Given the description of an element on the screen output the (x, y) to click on. 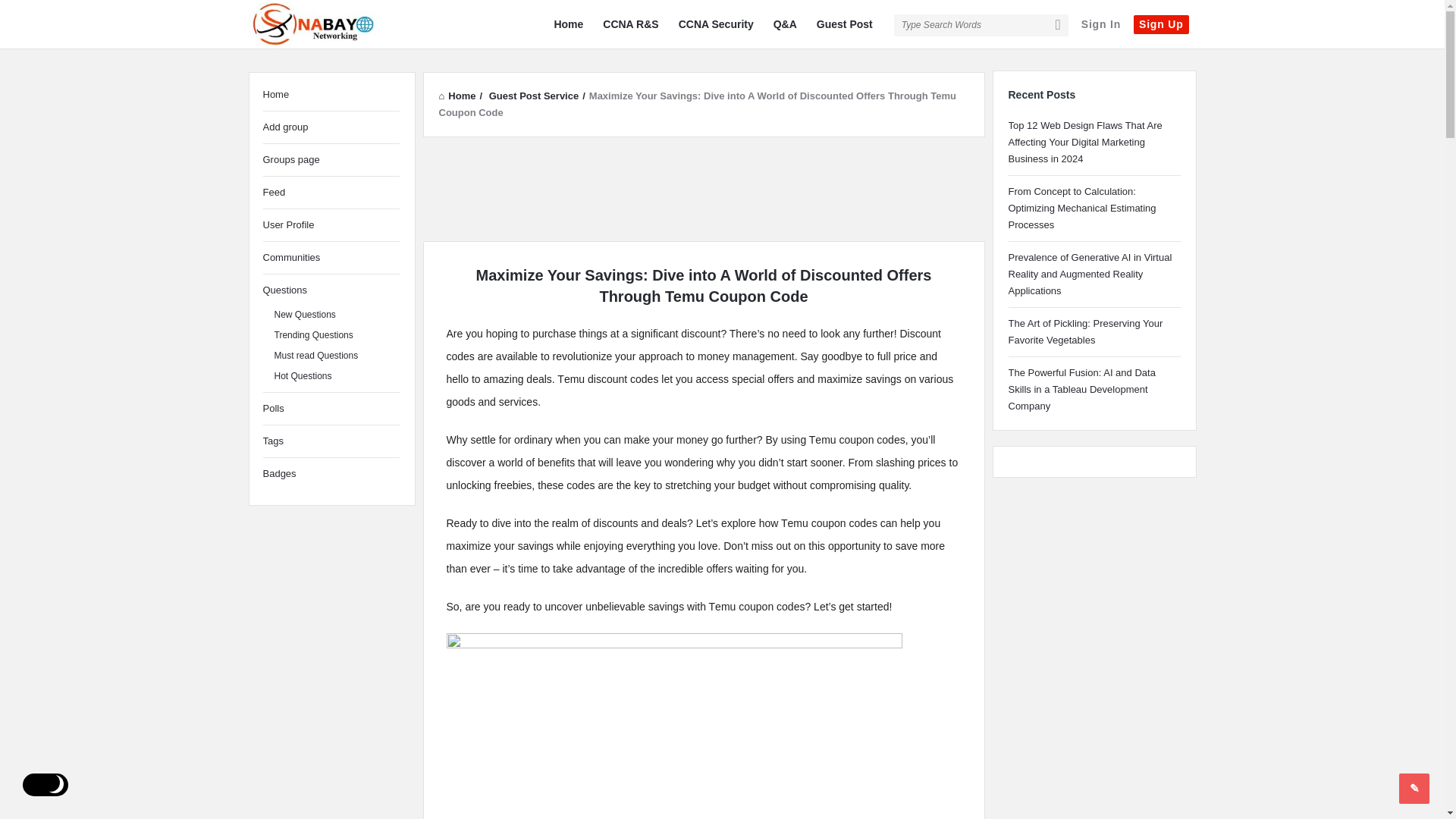
Guest Post Service (534, 95)
Guest Post (844, 24)
Sign In (1100, 24)
Sign Up (1161, 24)
Ask a question (1414, 788)
Home (457, 95)
Snabay Networking (312, 25)
CCNA Security (716, 24)
Home (568, 24)
Snabay Networking (324, 24)
